Given the description of an element on the screen output the (x, y) to click on. 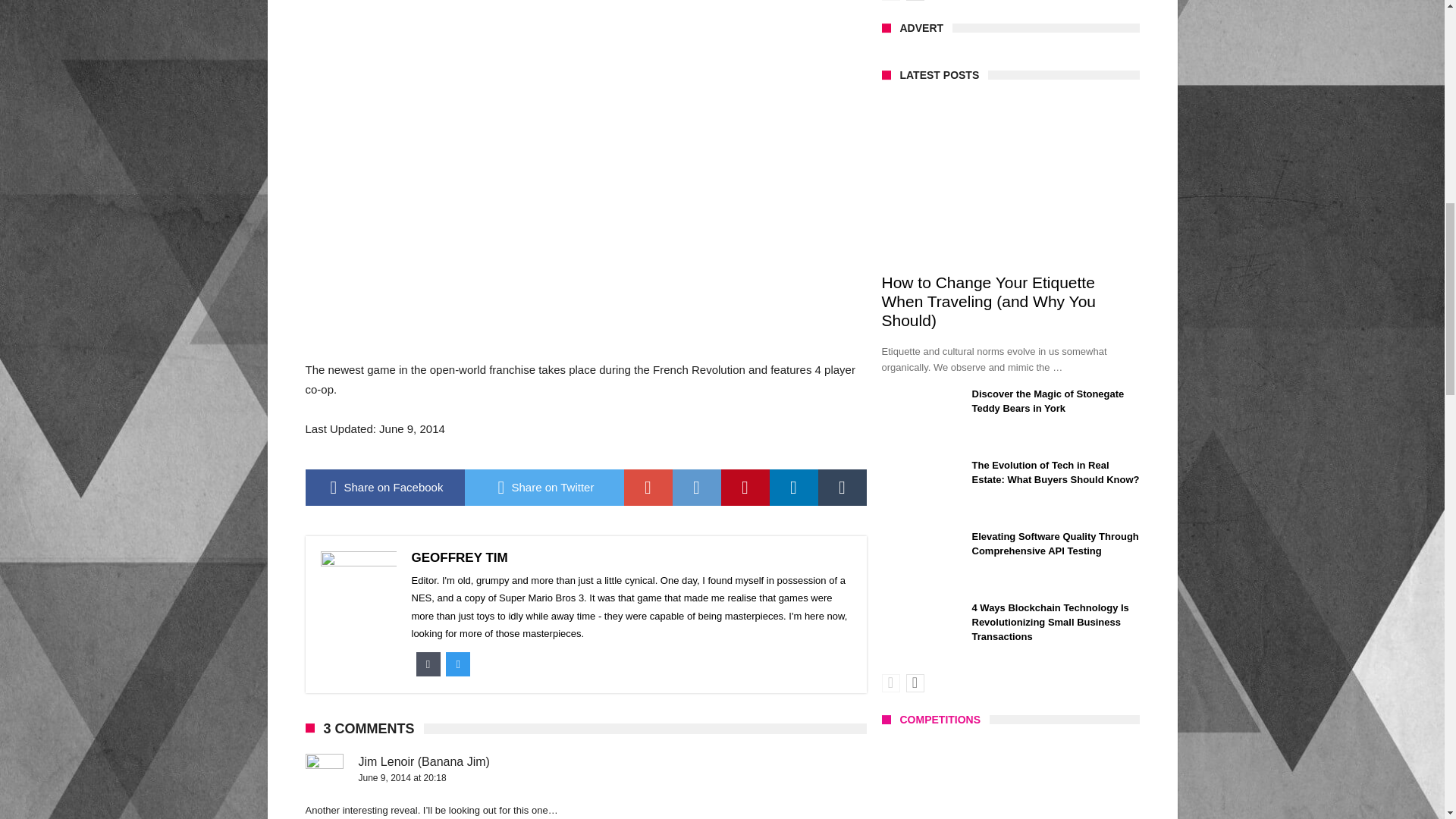
Share on Twitter (543, 487)
Share on Reddit (695, 487)
GEOFFREY TIM (458, 557)
Share on Facebook (384, 487)
Share on Linkedin (792, 487)
Share on Pinterest (744, 487)
Share on Tumblr (841, 487)
